Given the description of an element on the screen output the (x, y) to click on. 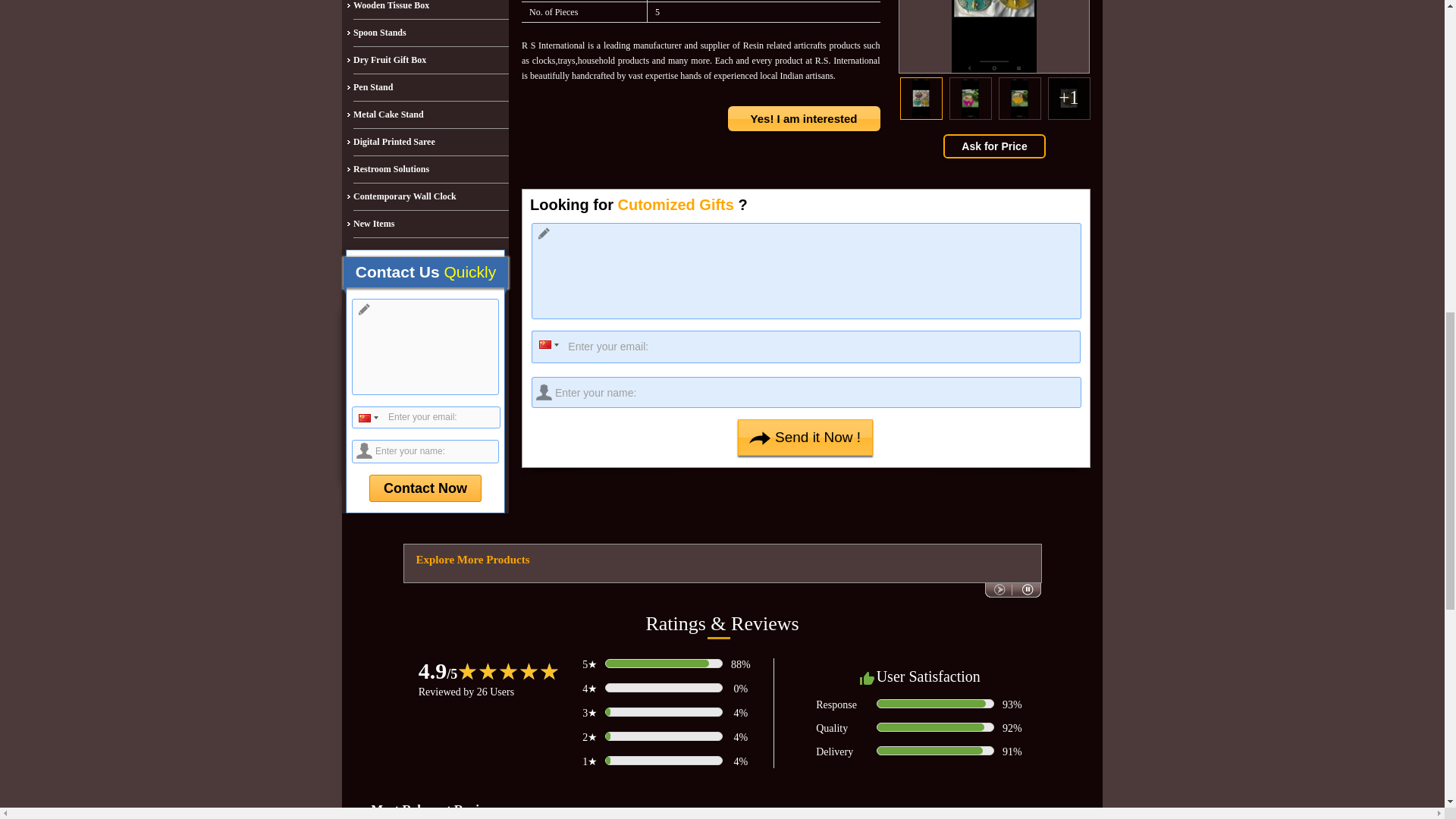
Enter your name: (806, 391)
4.9 out of 5 Votes (438, 670)
Send it Now ! (805, 437)
Enter your name: (425, 451)
Enter your email: (426, 417)
Contact Now (425, 488)
Send it Now ! (805, 437)
Enter your email: (805, 346)
